Given the description of an element on the screen output the (x, y) to click on. 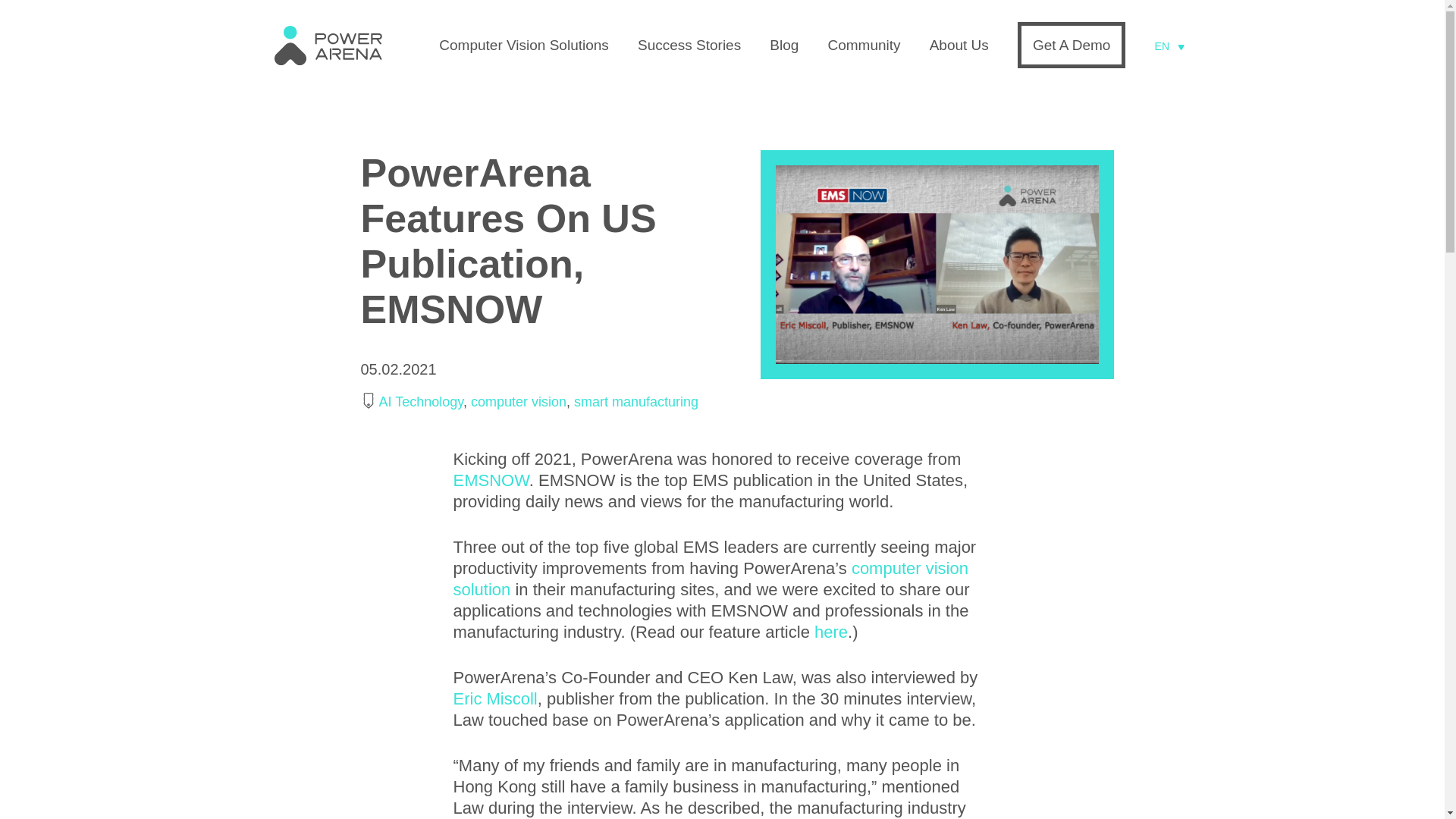
Eric Miscoll (494, 698)
smart manufacturing (635, 401)
Blog (783, 44)
About Us (959, 44)
here (830, 631)
Success Stories (689, 44)
computer vision solution (710, 578)
Get A Demo (1071, 44)
computer vision (518, 401)
Community (863, 44)
